Given the description of an element on the screen output the (x, y) to click on. 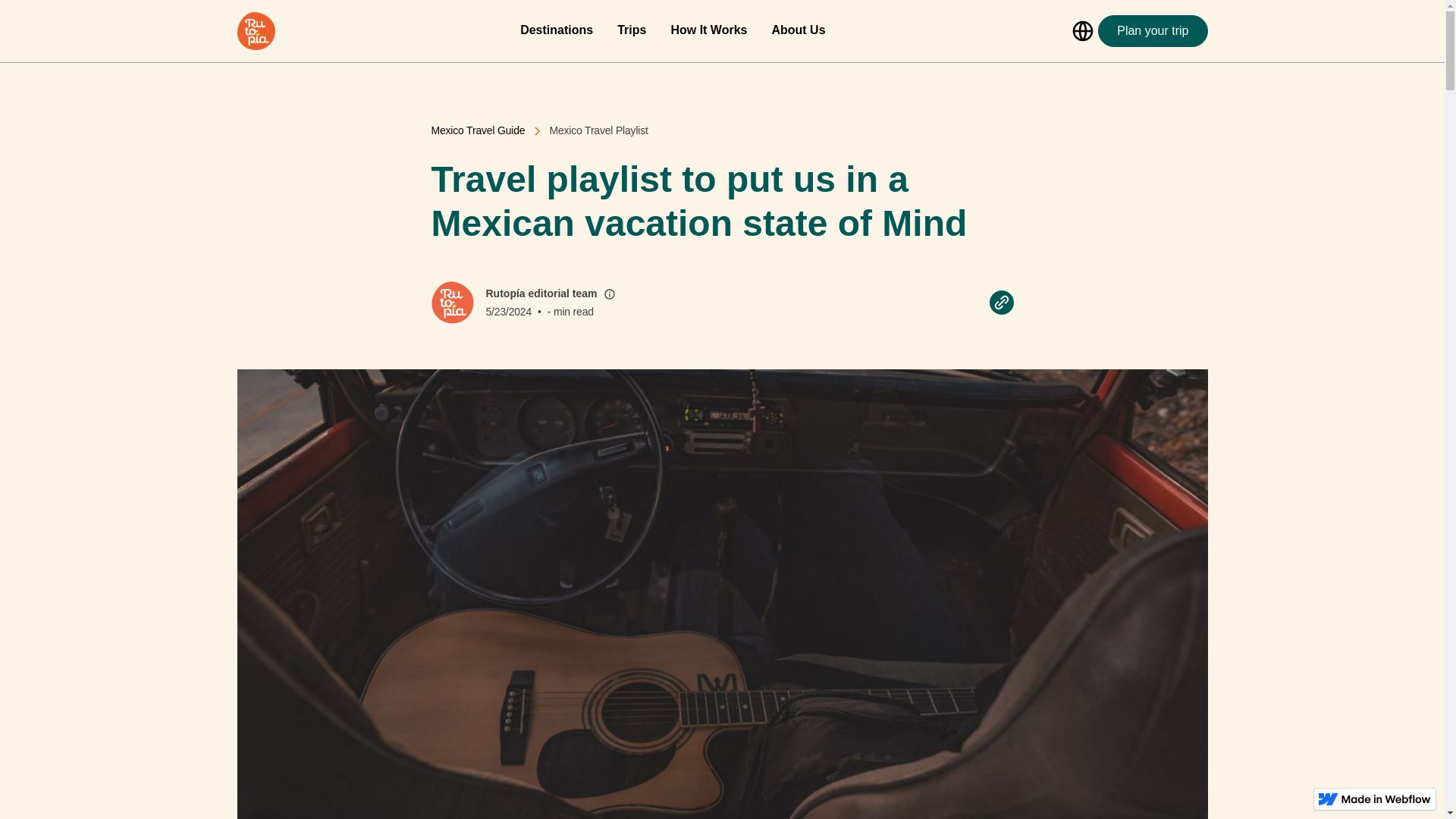
Plan your trip (1152, 30)
Trips (631, 30)
About Us (798, 30)
Mexico Travel Guide (477, 130)
How It Works (707, 30)
